Given the description of an element on the screen output the (x, y) to click on. 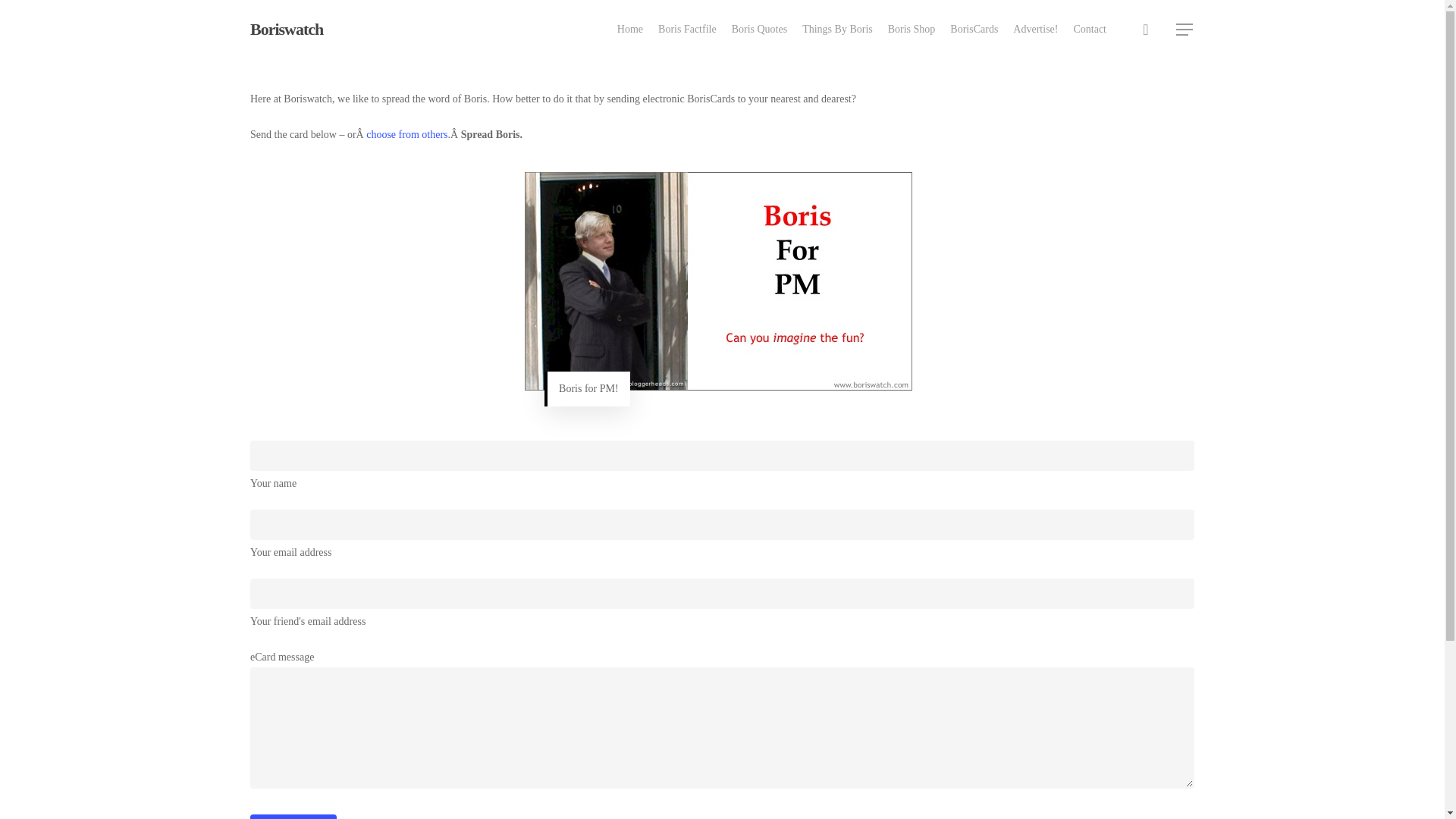
Boris Factfile (687, 29)
Boris Shop (912, 29)
Boris Quotes (759, 29)
Home (630, 29)
Send eCard (293, 816)
Contact (1089, 29)
Things By Boris (837, 29)
search (1145, 28)
eCard - Boris for PM (718, 280)
Send eCard (293, 816)
Advertise! (1035, 29)
Menu (1184, 28)
choose from others (406, 134)
BorisCards (973, 29)
Boriswatch (286, 29)
